Given the description of an element on the screen output the (x, y) to click on. 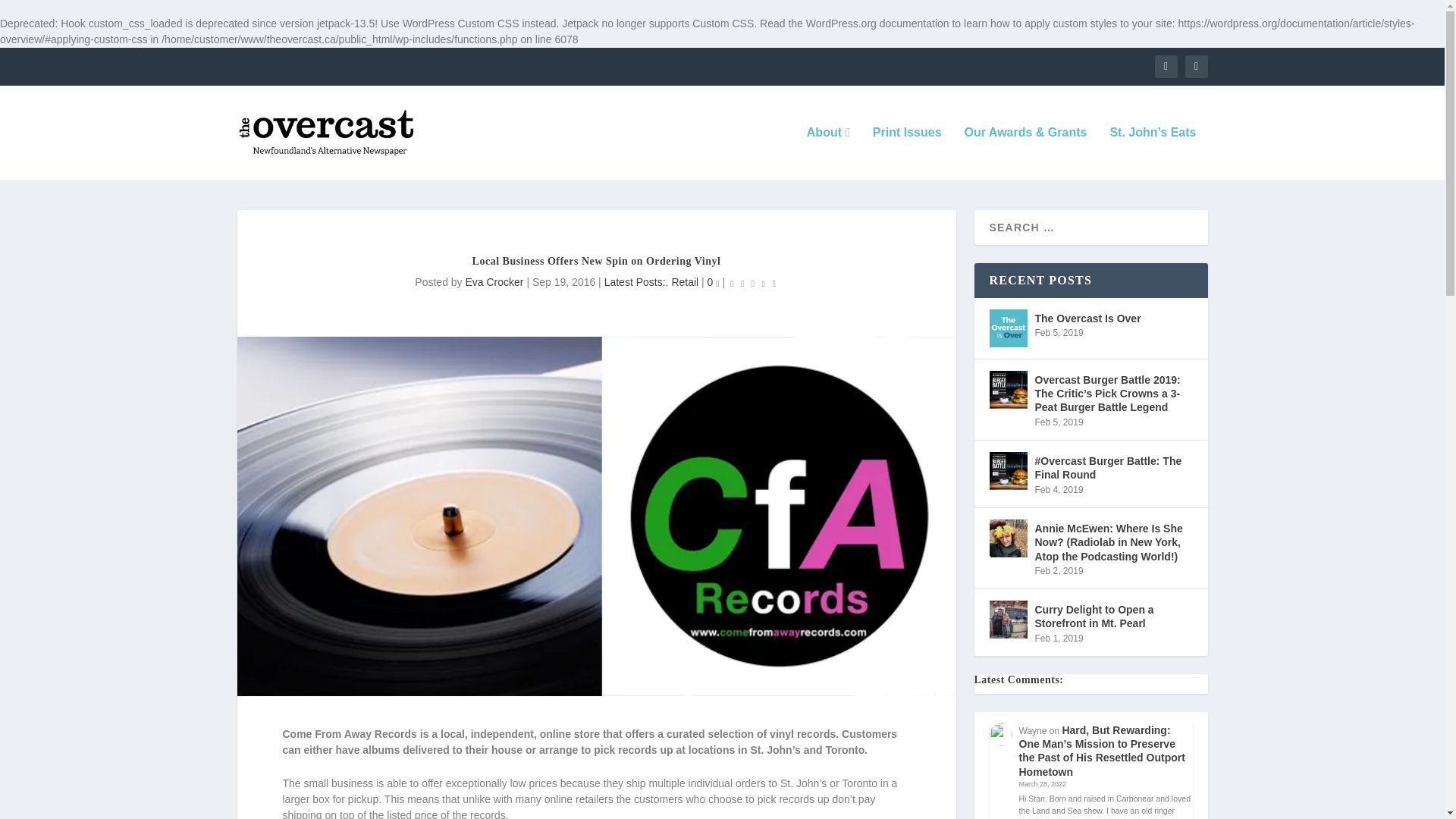
Print Issues (907, 152)
0 (713, 282)
Eva Crocker (493, 282)
Rating: 0.00 (752, 282)
Latest Posts: (634, 282)
Posts by Eva Crocker (493, 282)
Retail (684, 282)
